Given the description of an element on the screen output the (x, y) to click on. 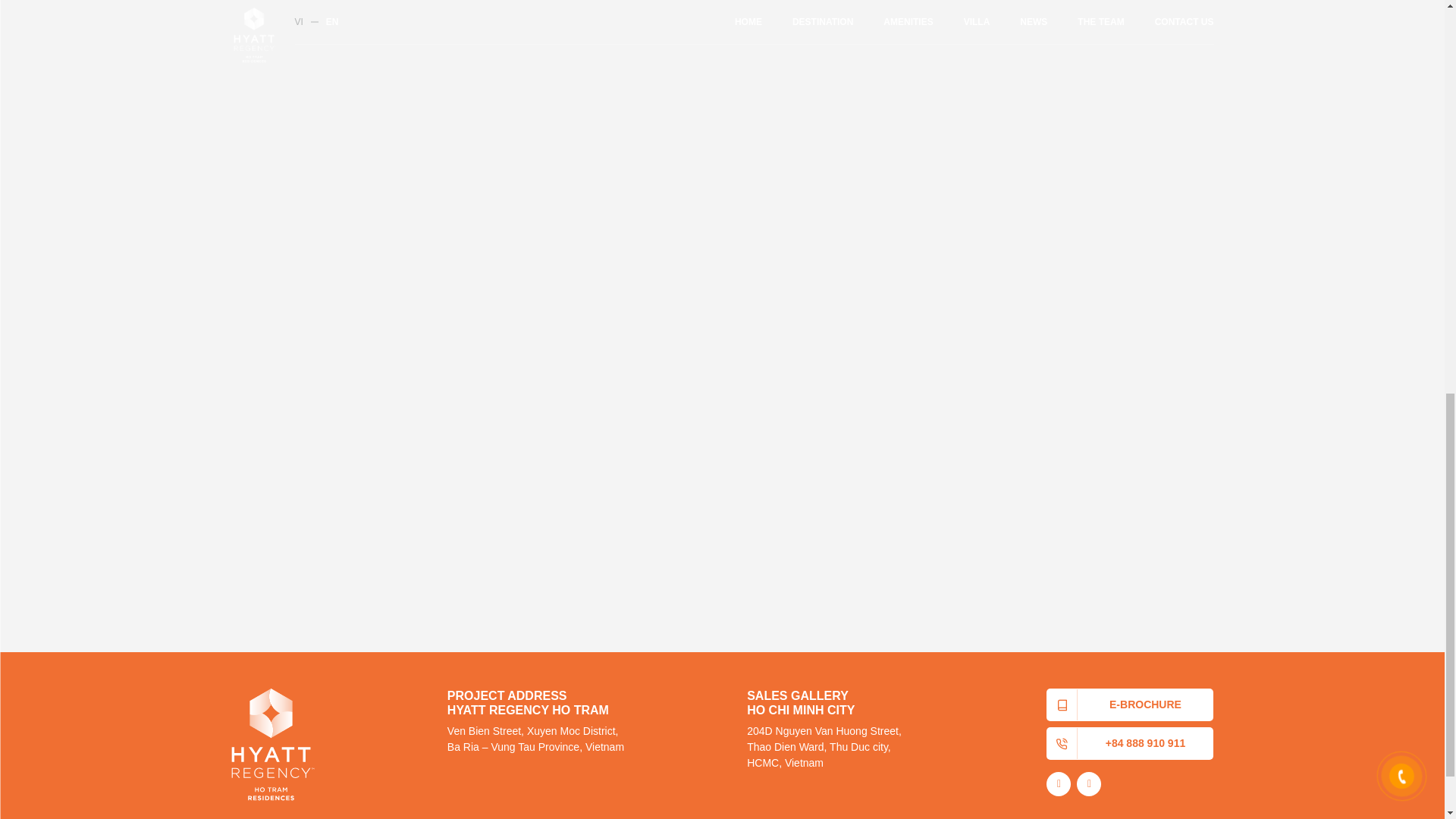
E-BROCHURE (1129, 704)
